Given the description of an element on the screen output the (x, y) to click on. 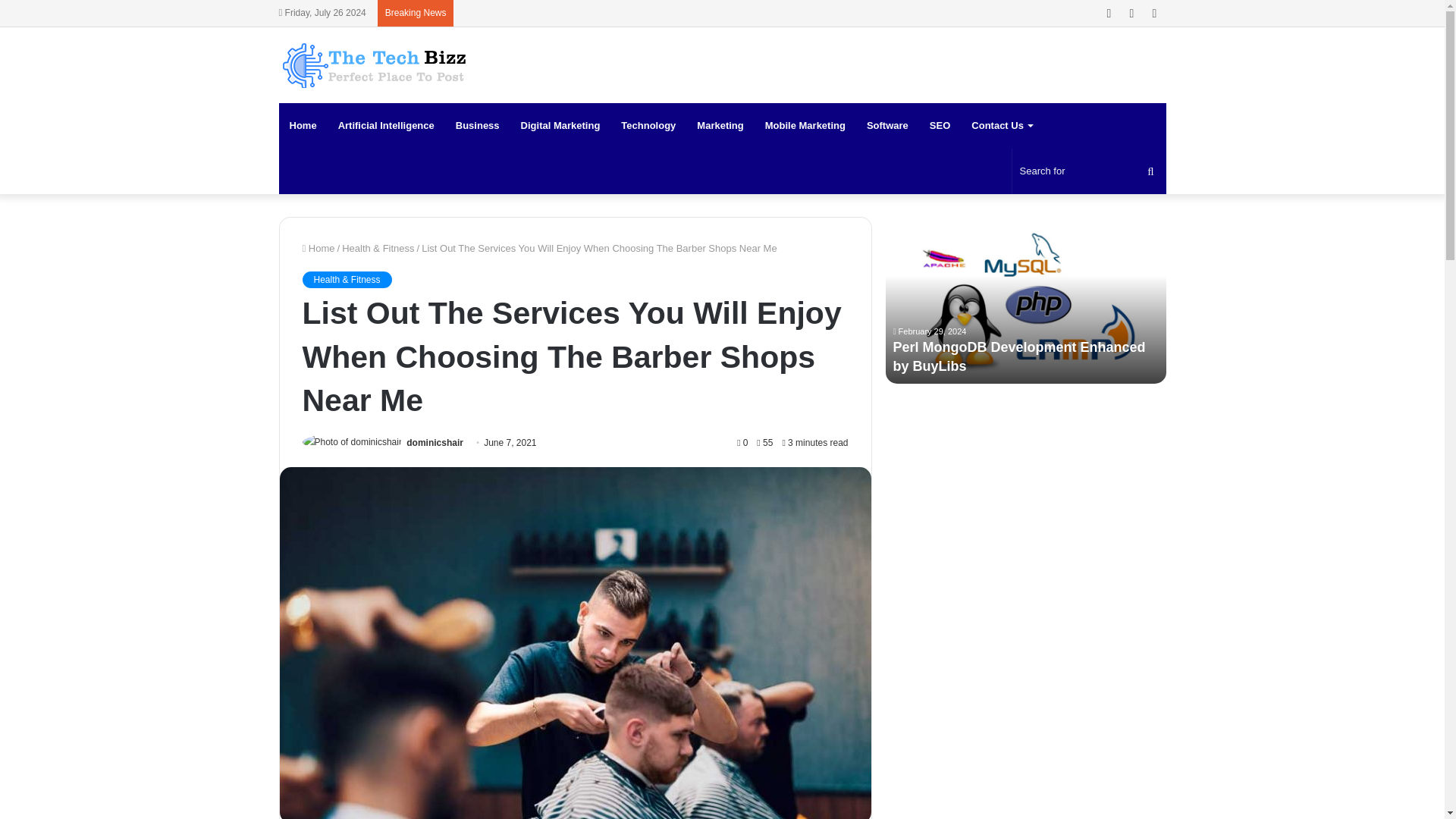
Digital Marketing (561, 125)
Search for (1088, 171)
Home (303, 125)
Software (887, 125)
The Tech Bizz - Digital Technology (373, 64)
SEO (939, 125)
dominicshair (434, 442)
Home (317, 247)
Artificial Intelligence (386, 125)
Contact Us (1001, 125)
dominicshair (434, 442)
Mobile Marketing (805, 125)
Technology (647, 125)
Marketing (719, 125)
Business (478, 125)
